Given the description of an element on the screen output the (x, y) to click on. 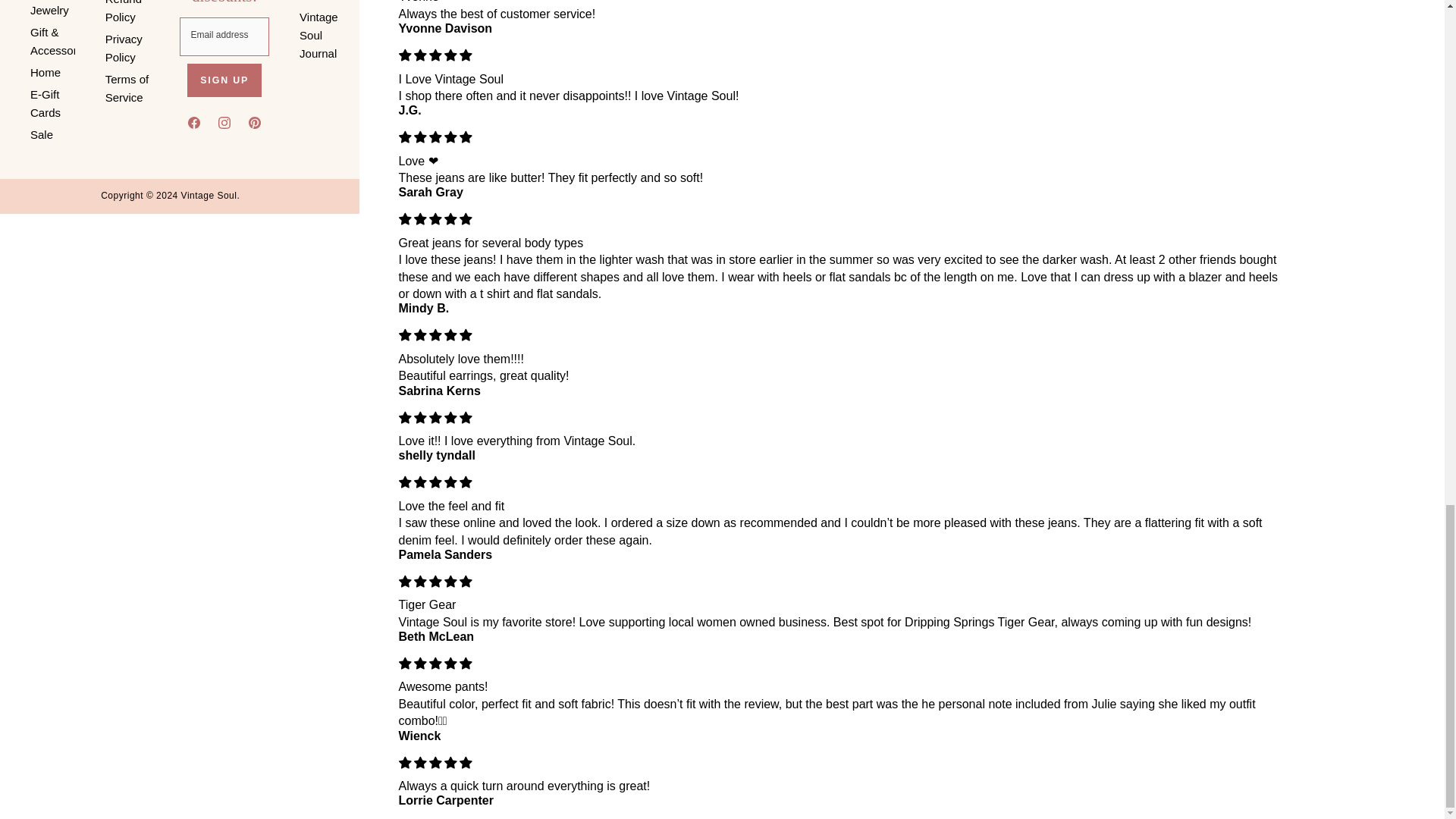
Facebook (194, 125)
Instagram (224, 125)
Pinterest (254, 125)
